Given the description of an element on the screen output the (x, y) to click on. 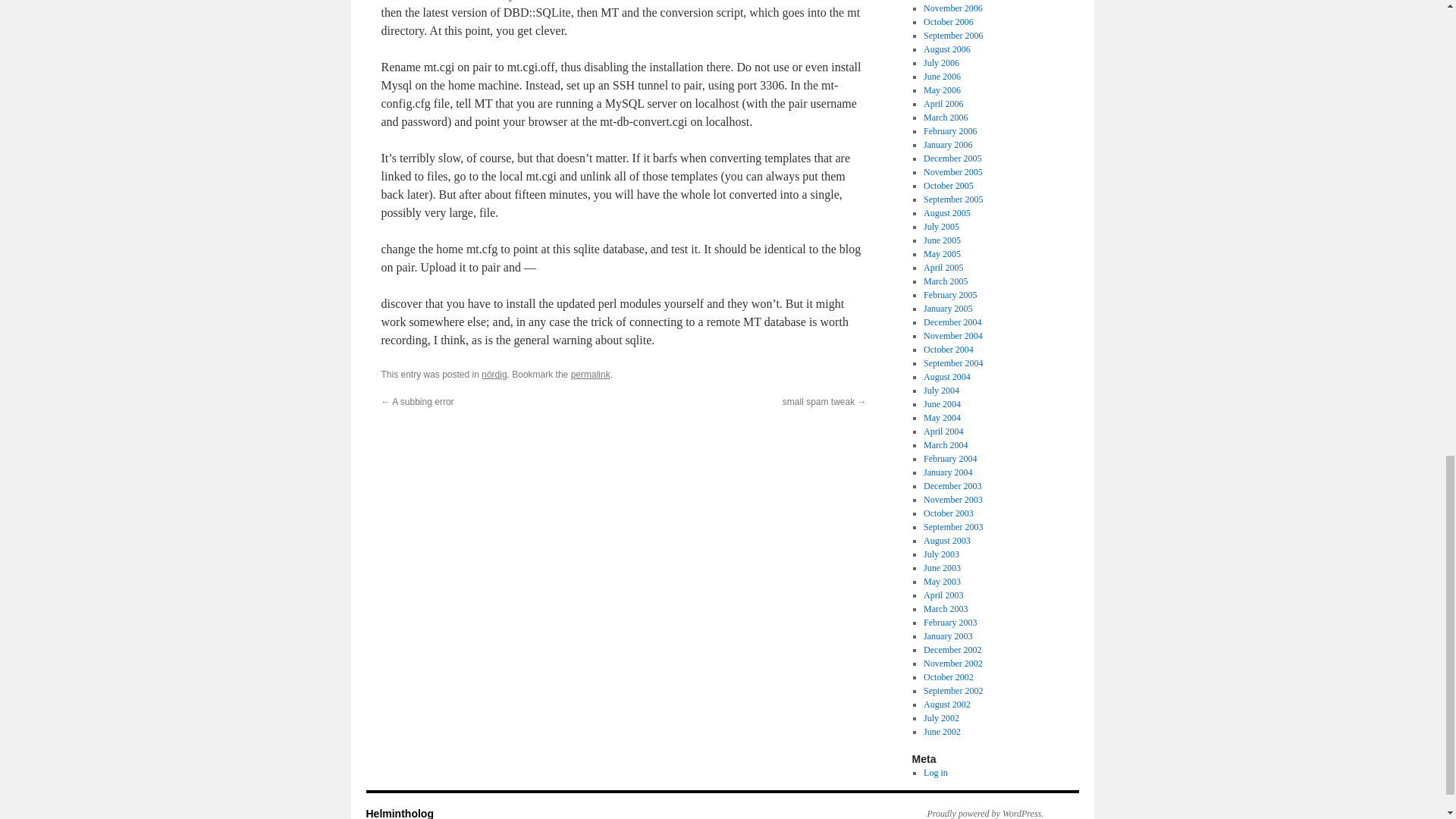
permalink (590, 374)
Permalink to Final note on SQlite and MT (590, 374)
